Given the description of an element on the screen output the (x, y) to click on. 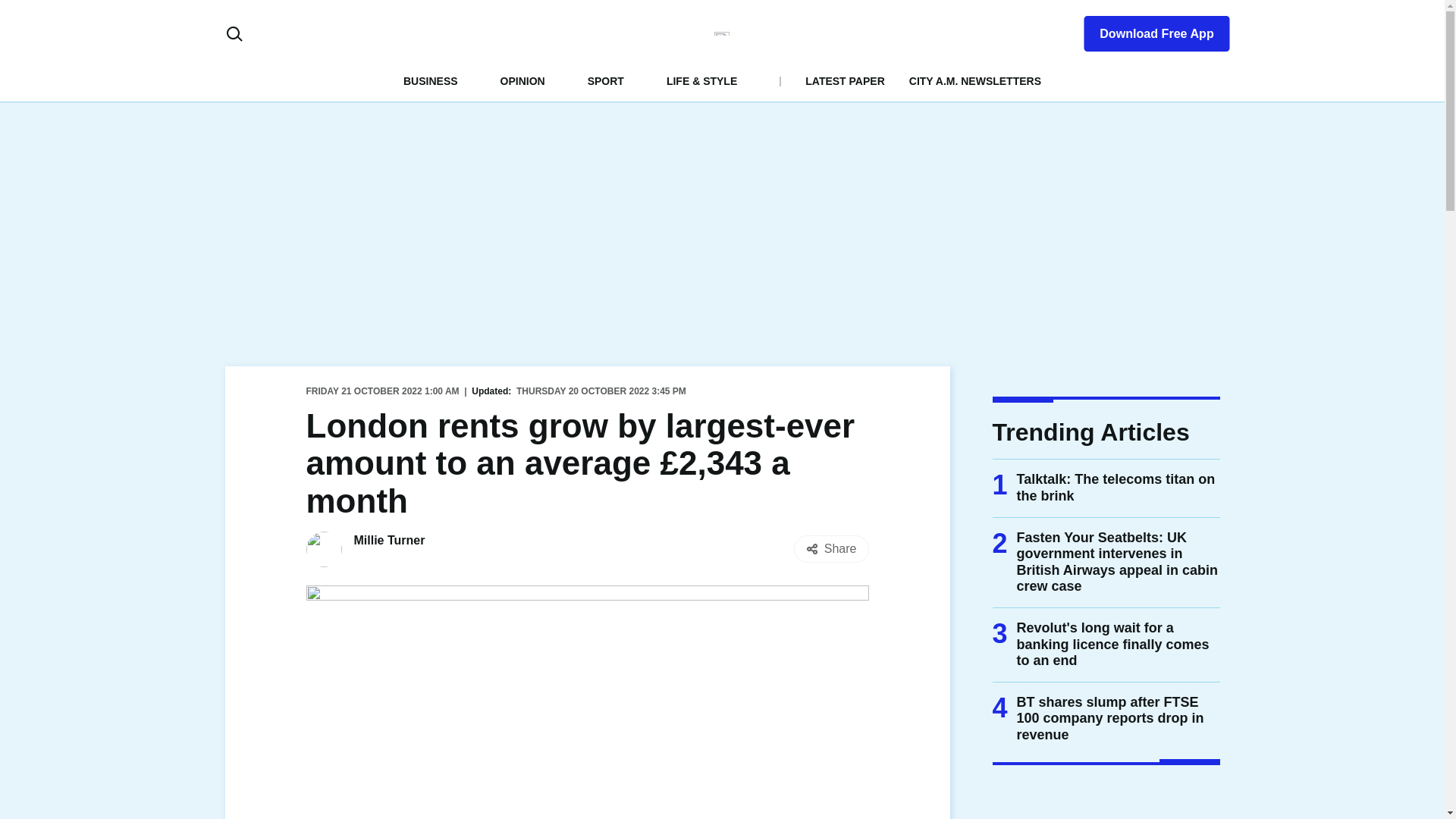
Download Free App (1146, 30)
BUSINESS (430, 80)
SPORT (606, 80)
CityAM (721, 33)
OPINION (522, 80)
